Given the description of an element on the screen output the (x, y) to click on. 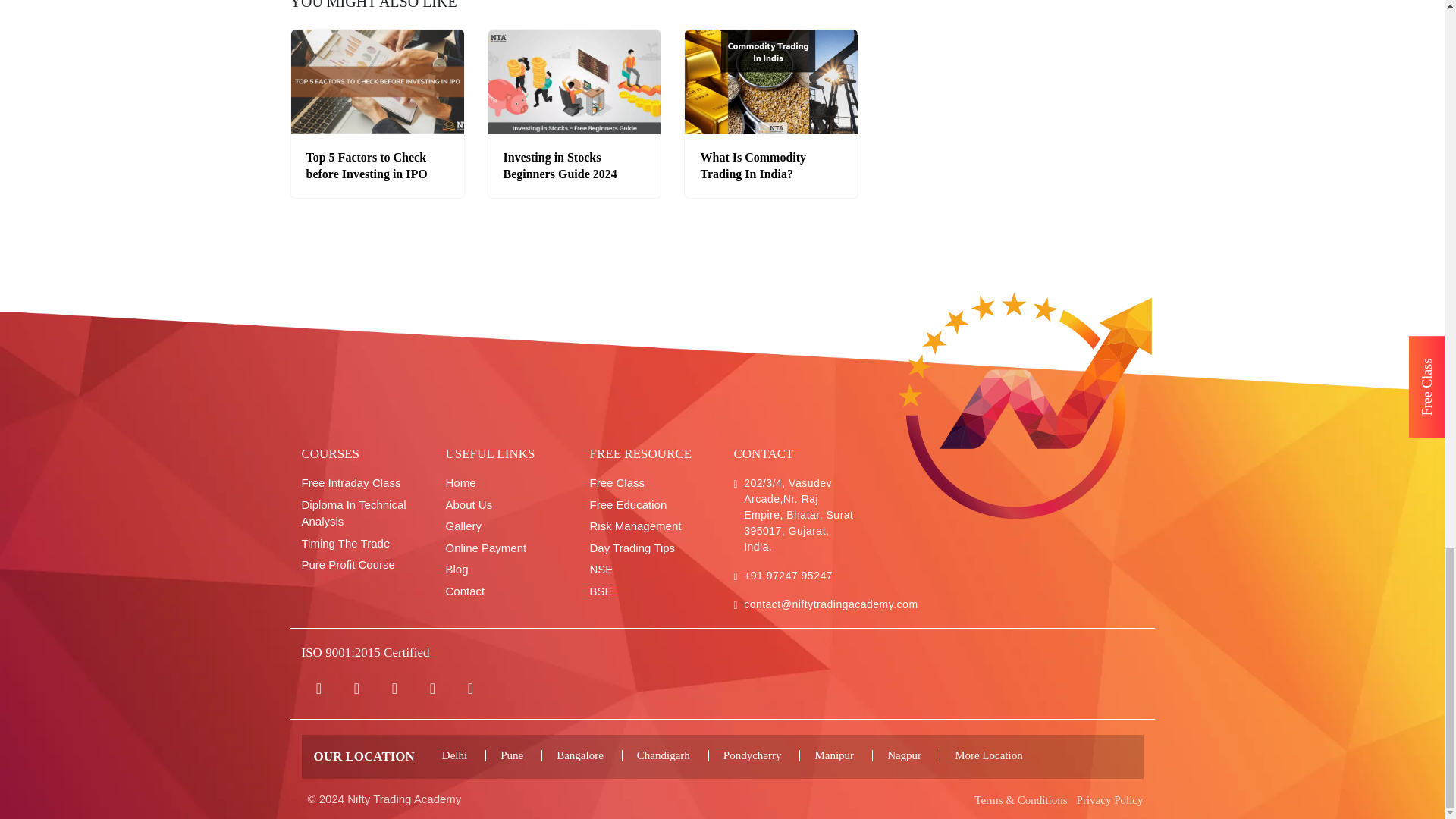
Investing in Stocks Beginners Guide 2024 (560, 165)
Pure Profit Course (362, 565)
Top 5 Factors to Check before Investing in IPO (366, 165)
Diploma In Technical Analysis (362, 513)
Timing The Trade (362, 543)
Free Intraday Class (362, 483)
What Is Commodity Trading In India? (753, 165)
